Given the description of an element on the screen output the (x, y) to click on. 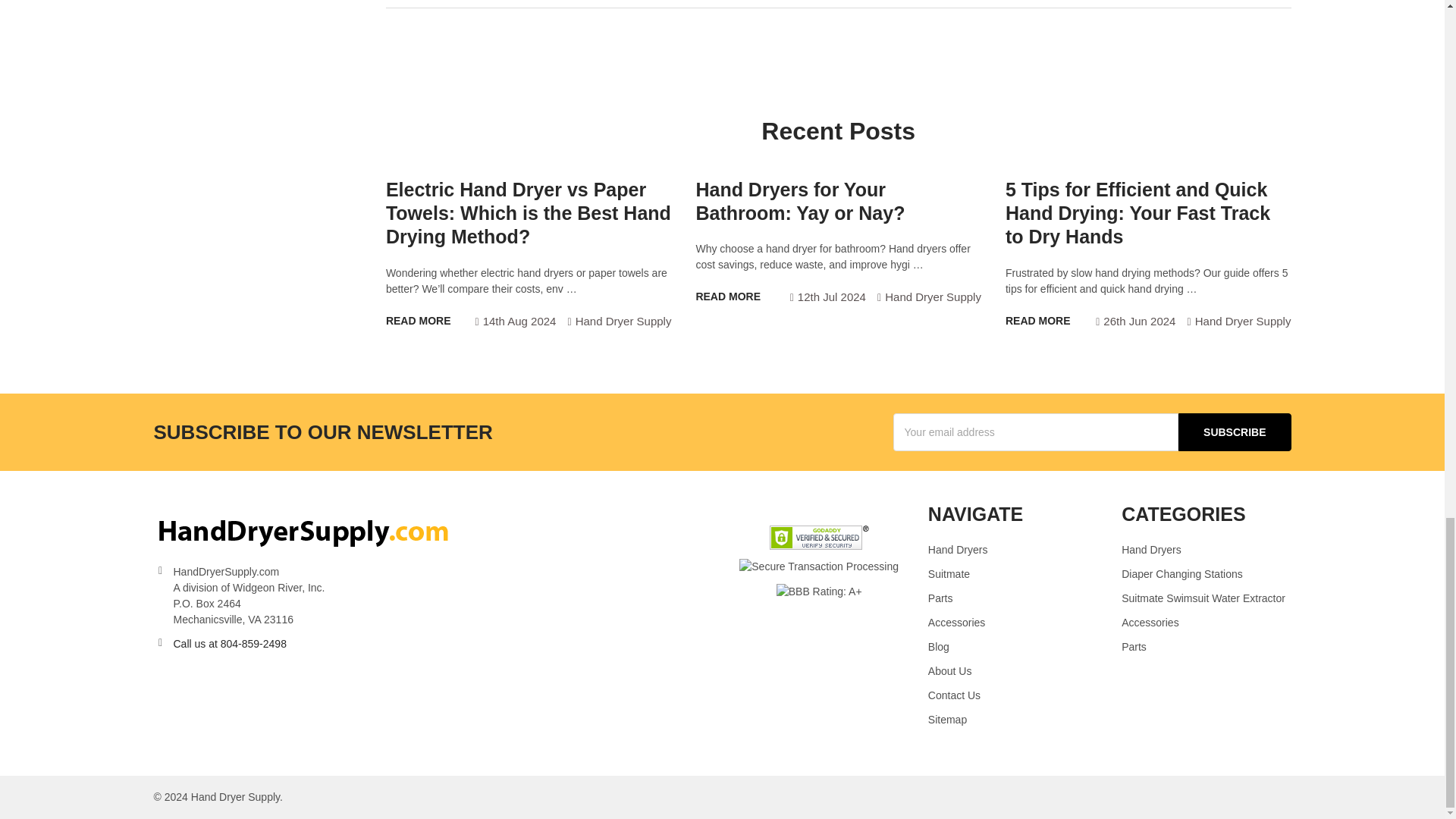
Twitter (826, 53)
Hand Dryer Supply (304, 524)
Facebook (798, 53)
Subscribe (1233, 432)
AuthorizeNetText (818, 565)
GoDaddy Verified and Secure (819, 536)
